Given the description of an element on the screen output the (x, y) to click on. 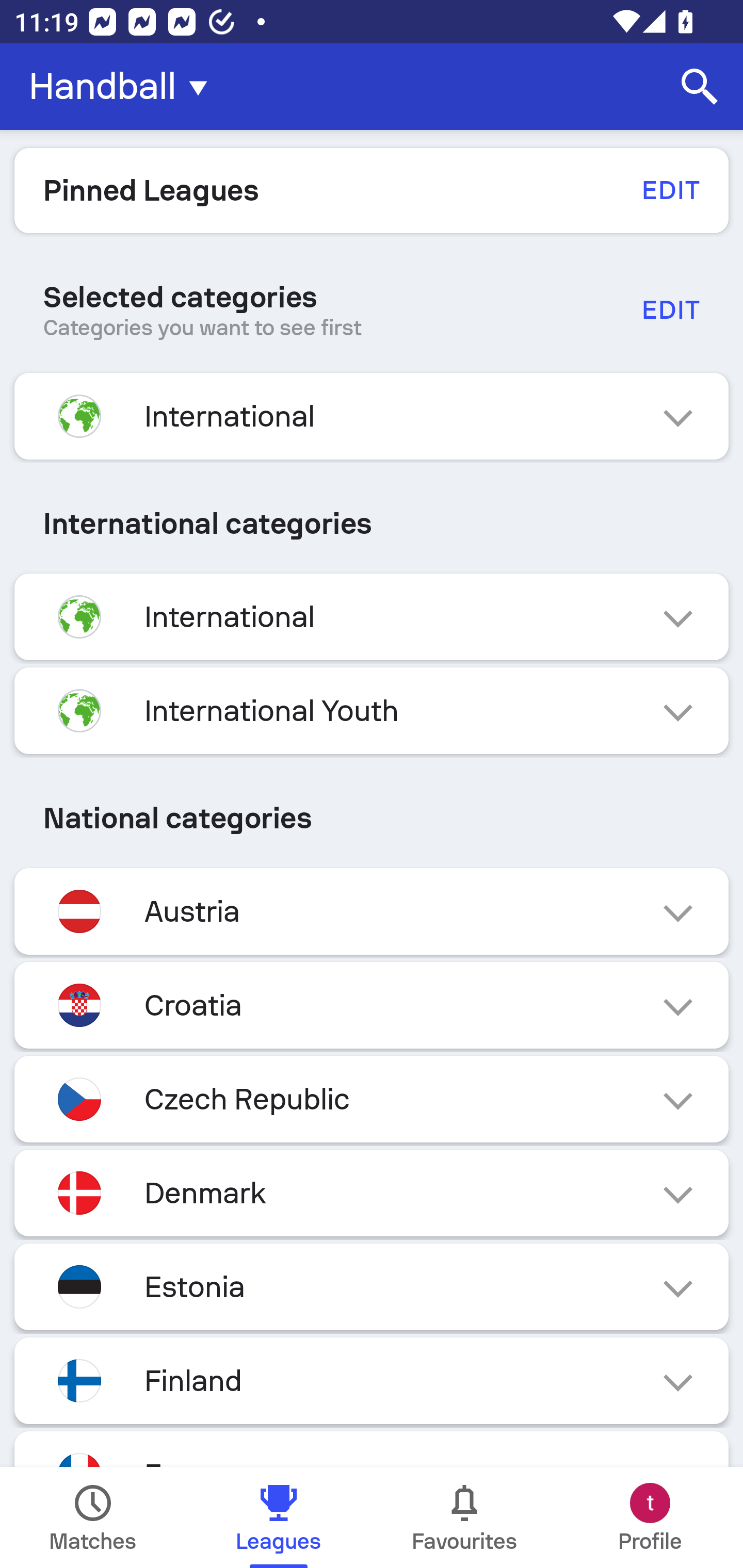
Handball (124, 86)
Search (699, 86)
Pinned Leagues EDIT (371, 190)
EDIT (670, 190)
EDIT (670, 309)
International (371, 416)
International categories (371, 523)
International (371, 616)
International Youth (371, 710)
National categories (371, 817)
Austria (371, 911)
Croatia (371, 1004)
Czech Republic (371, 1099)
Denmark (371, 1192)
Estonia (371, 1286)
Finland (371, 1380)
Matches (92, 1517)
Favourites (464, 1517)
Profile (650, 1517)
